Given the description of an element on the screen output the (x, y) to click on. 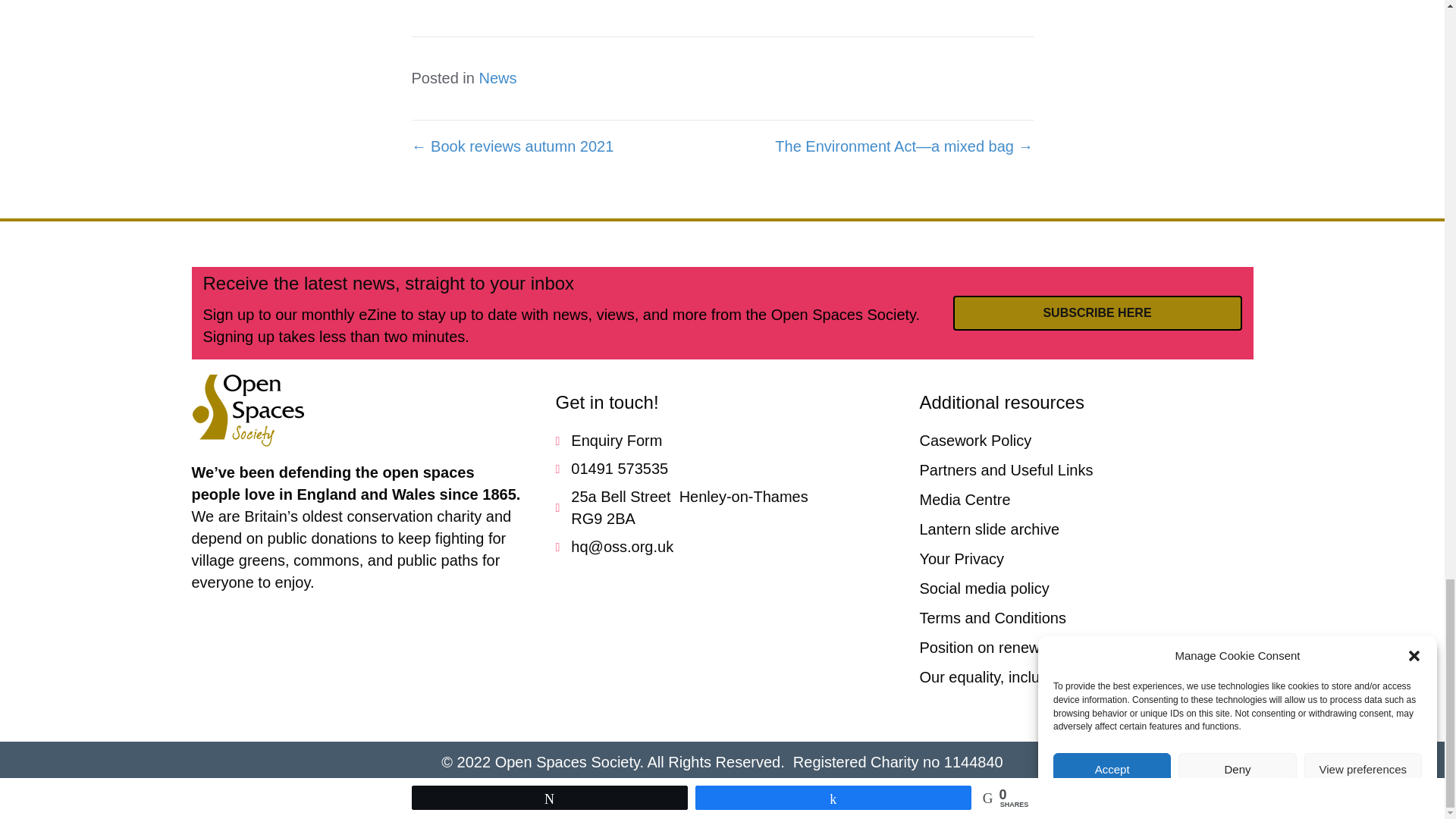
oss-logo (247, 410)
